Given the description of an element on the screen output the (x, y) to click on. 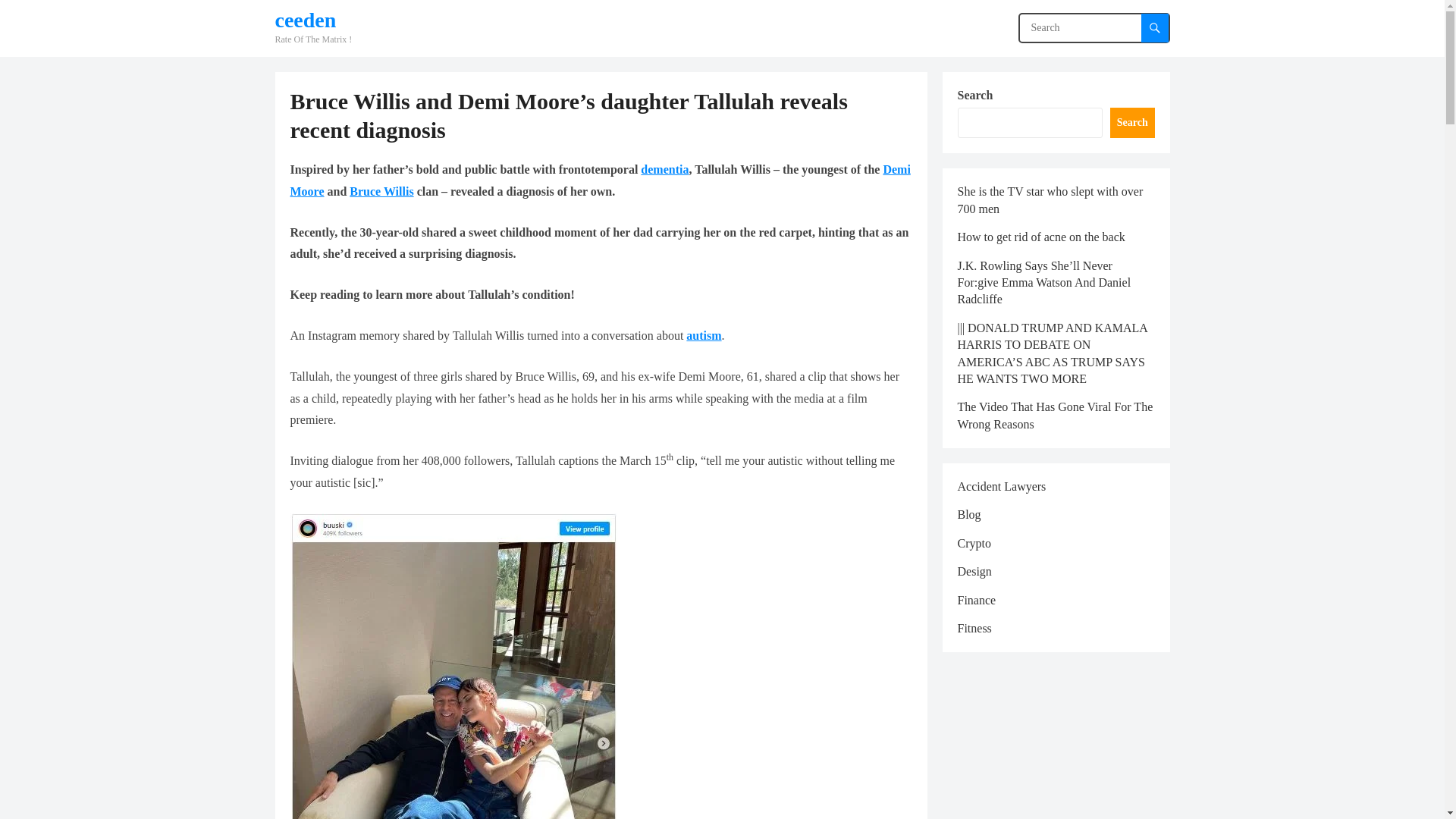
Bruce Willis (381, 191)
ceeden (313, 20)
Demi Moore (599, 180)
dementia (664, 169)
autism (702, 335)
